Given the description of an element on the screen output the (x, y) to click on. 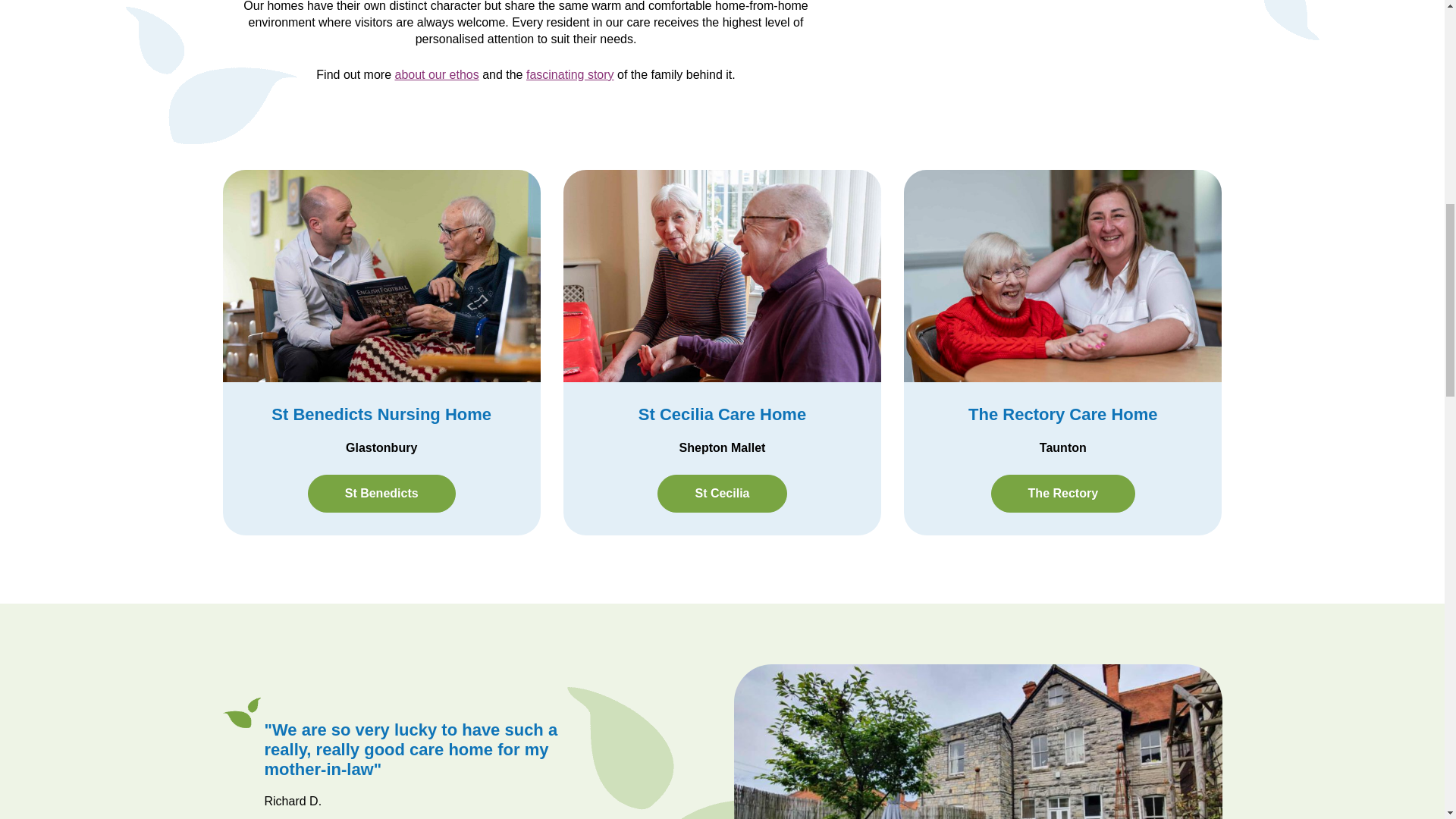
St Benedicts (381, 493)
fascinating story (569, 74)
St Cecilia (722, 493)
The Rectory (1063, 493)
about our ethos (436, 74)
